Given the description of an element on the screen output the (x, y) to click on. 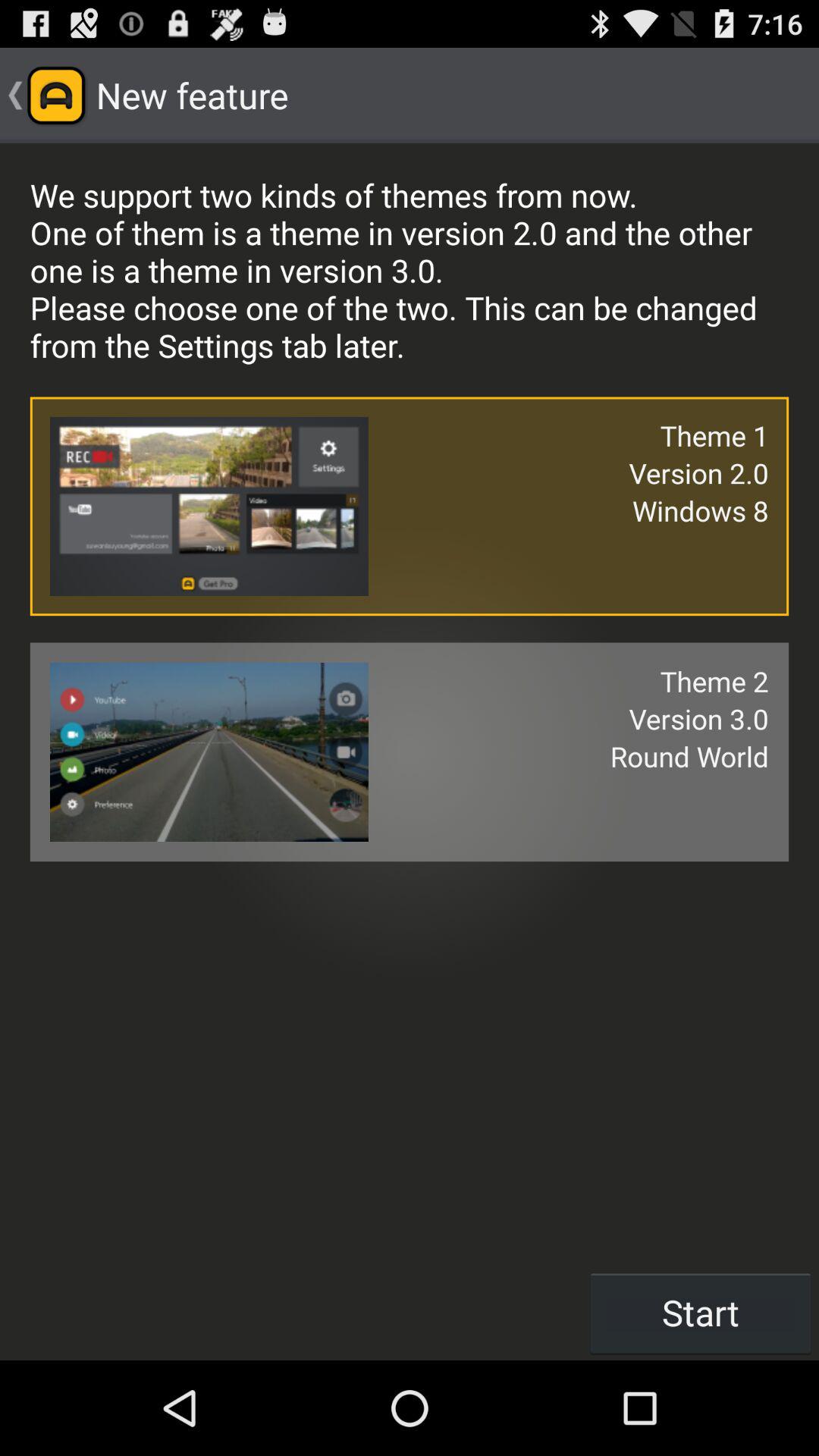
select the start icon (700, 1312)
